Given the description of an element on the screen output the (x, y) to click on. 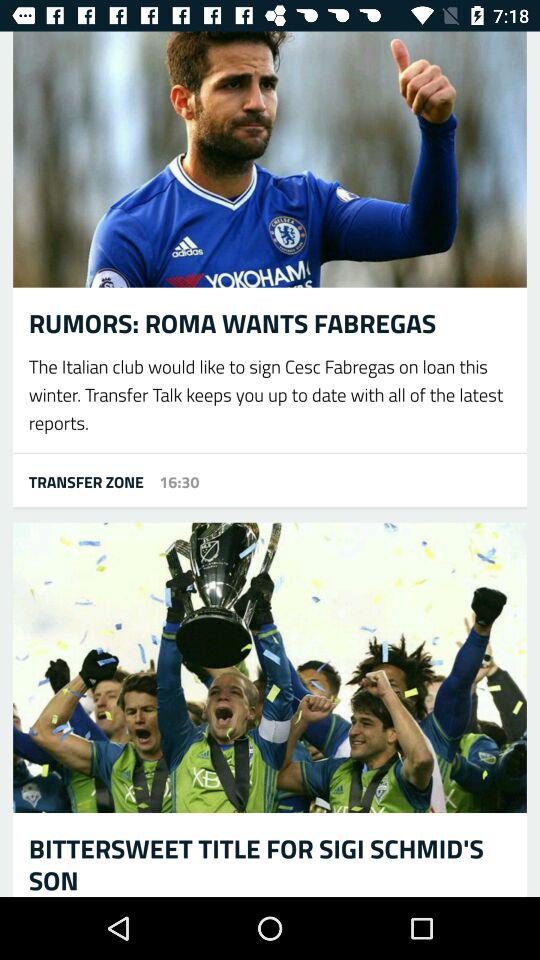
tap icon on the left (78, 481)
